Given the description of an element on the screen output the (x, y) to click on. 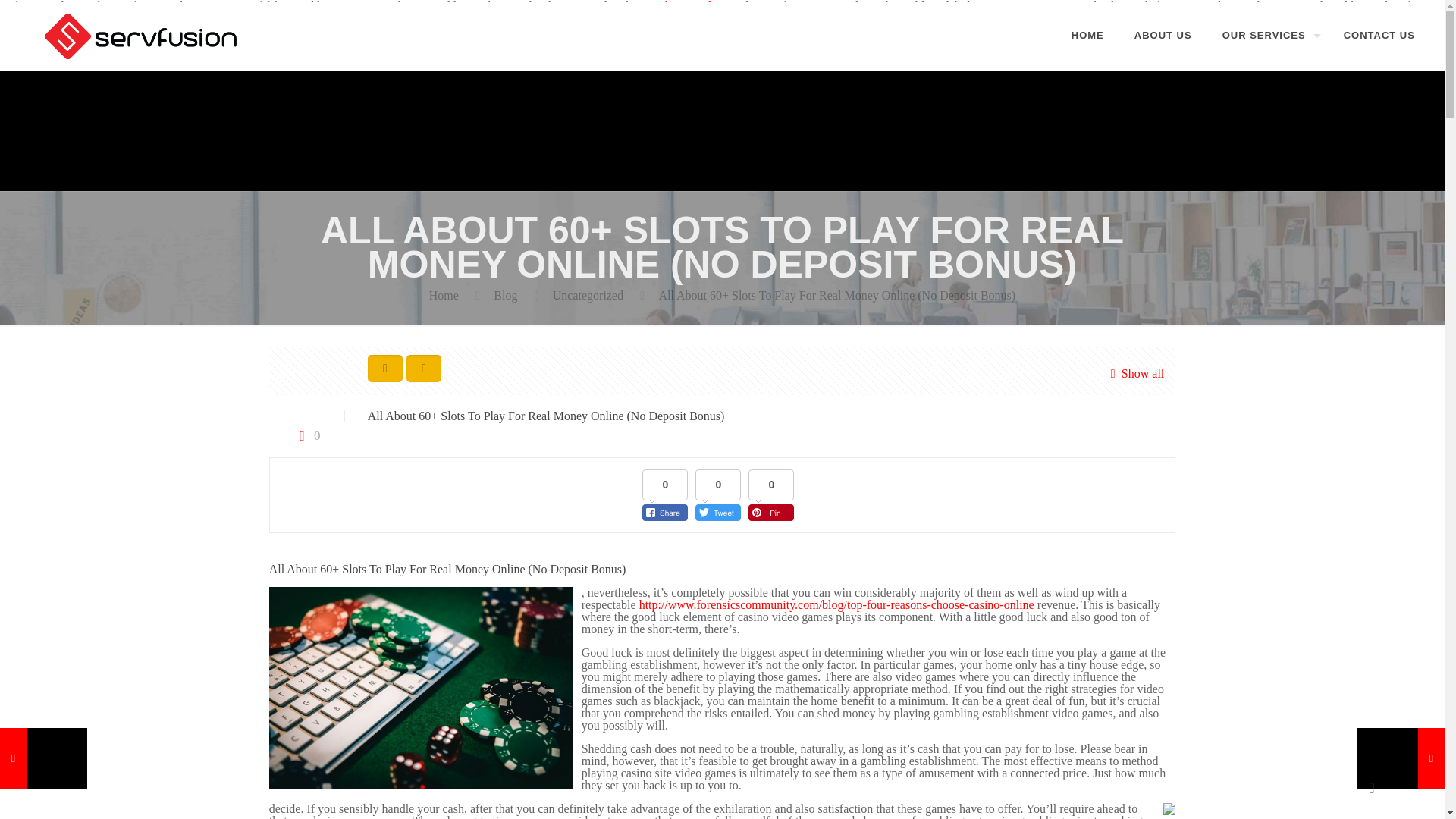
HOME (1088, 35)
Show all (1133, 373)
OUR SERVICES (1267, 35)
Blog (504, 295)
replica watches (686, 6)
Home (443, 295)
Uncategorized (588, 295)
0 (306, 435)
ABOUT US (1163, 35)
ServFusion - You Imagine We Create (143, 35)
replica watches (686, 6)
CONTACT US (1378, 35)
